Given the description of an element on the screen output the (x, y) to click on. 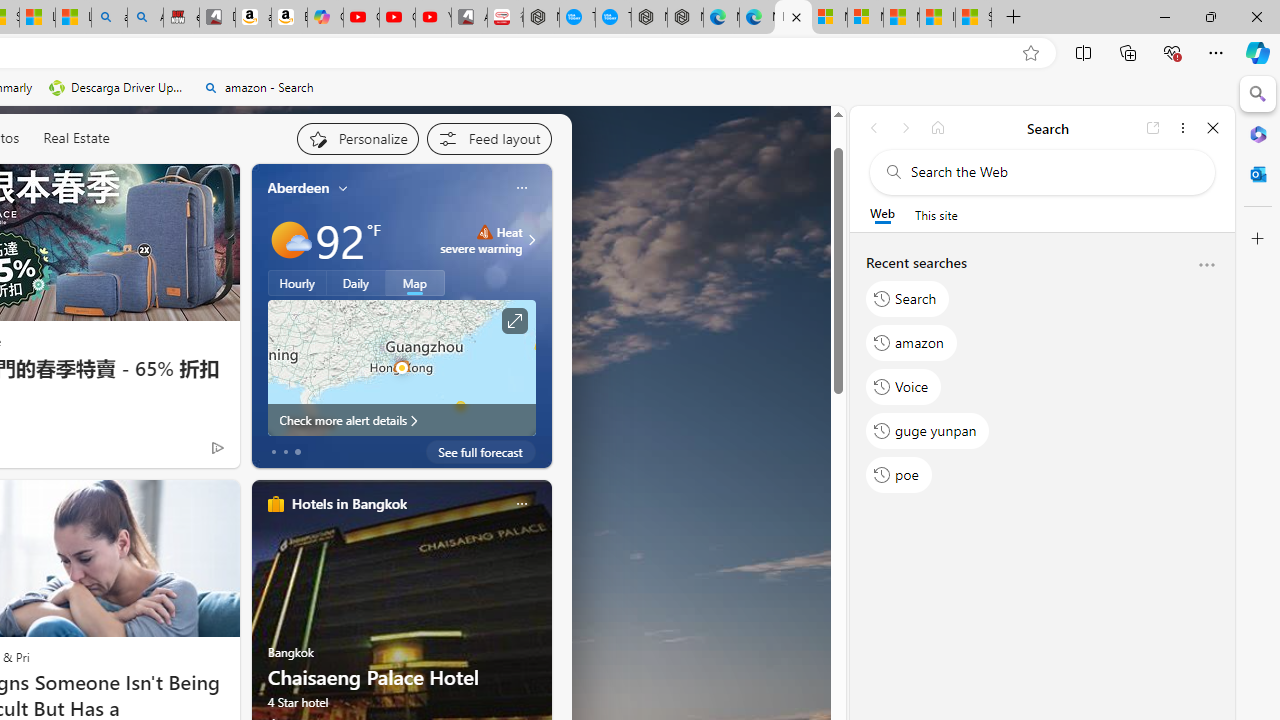
hotels-header-icon (275, 503)
guge yunpan (927, 431)
Aberdeen (298, 188)
See full forecast (480, 451)
Heat - Severe (484, 231)
Hourly (296, 282)
Web scope (882, 214)
